Given the description of an element on the screen output the (x, y) to click on. 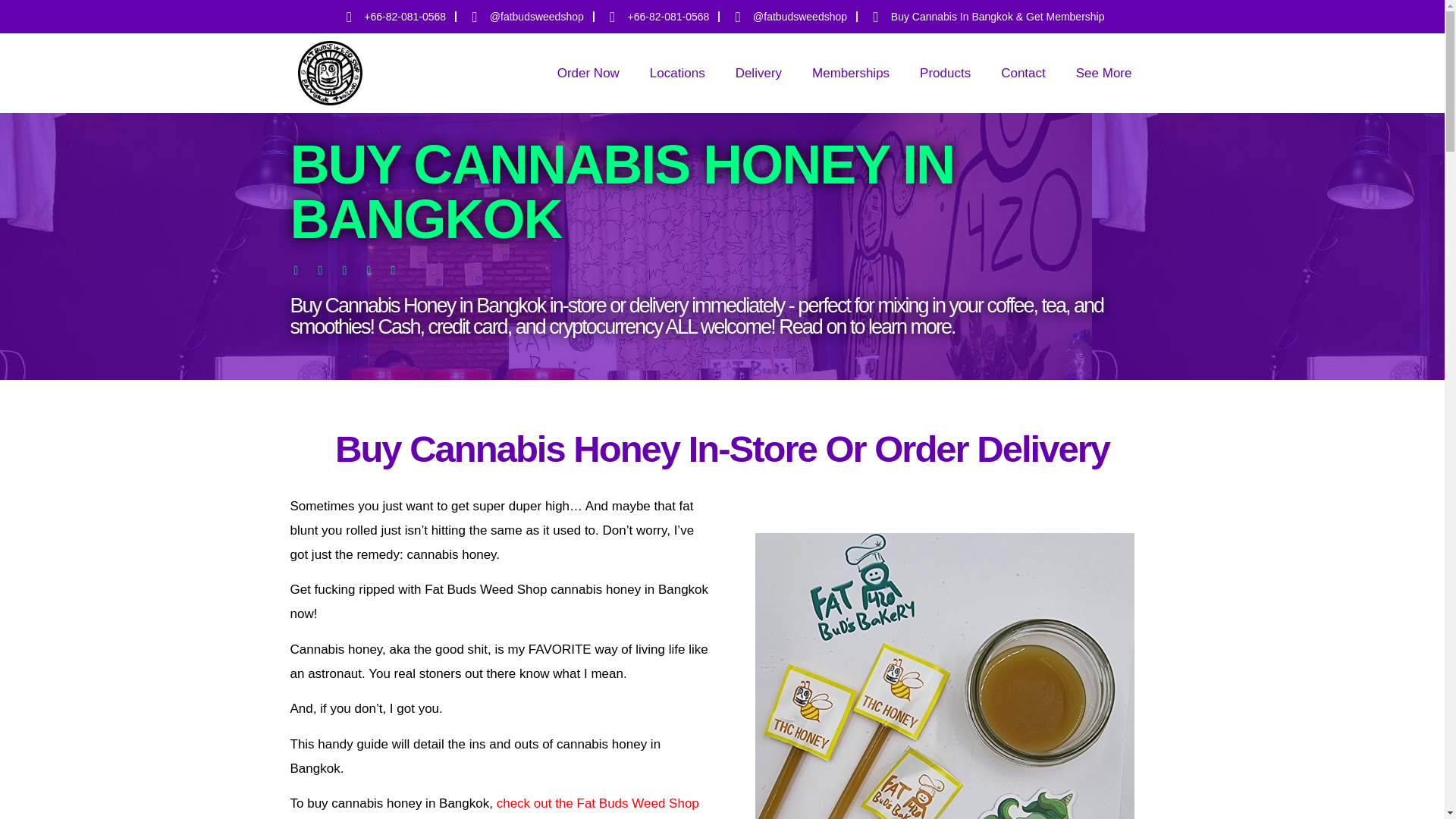
Locations (677, 73)
Products (944, 73)
Memberships (850, 73)
Delivery (758, 73)
See More (1104, 73)
671750 (329, 72)
Order Now (587, 73)
Contact (1023, 73)
